Given the description of an element on the screen output the (x, y) to click on. 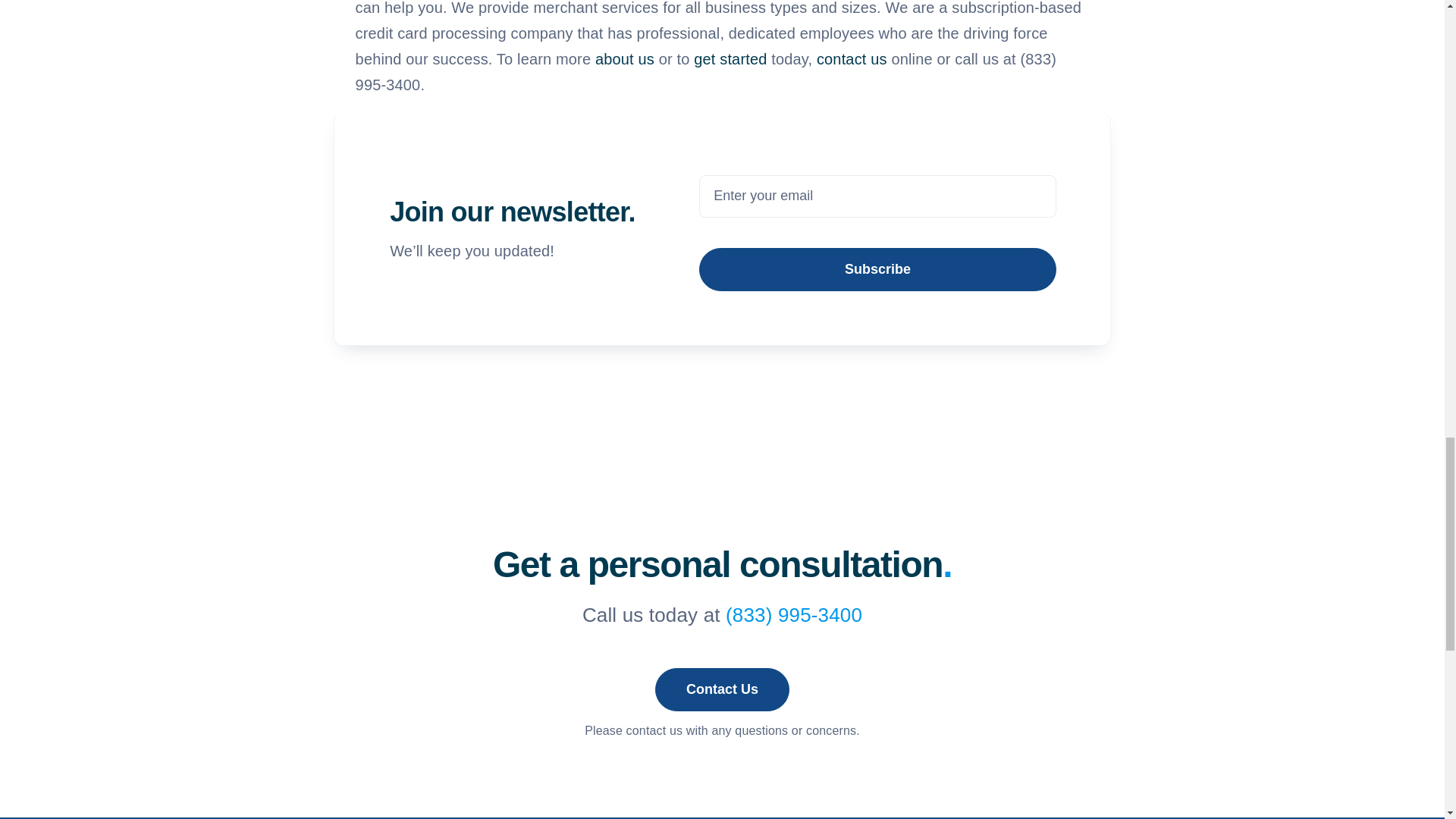
Subscribe (877, 233)
